Given the description of an element on the screen output the (x, y) to click on. 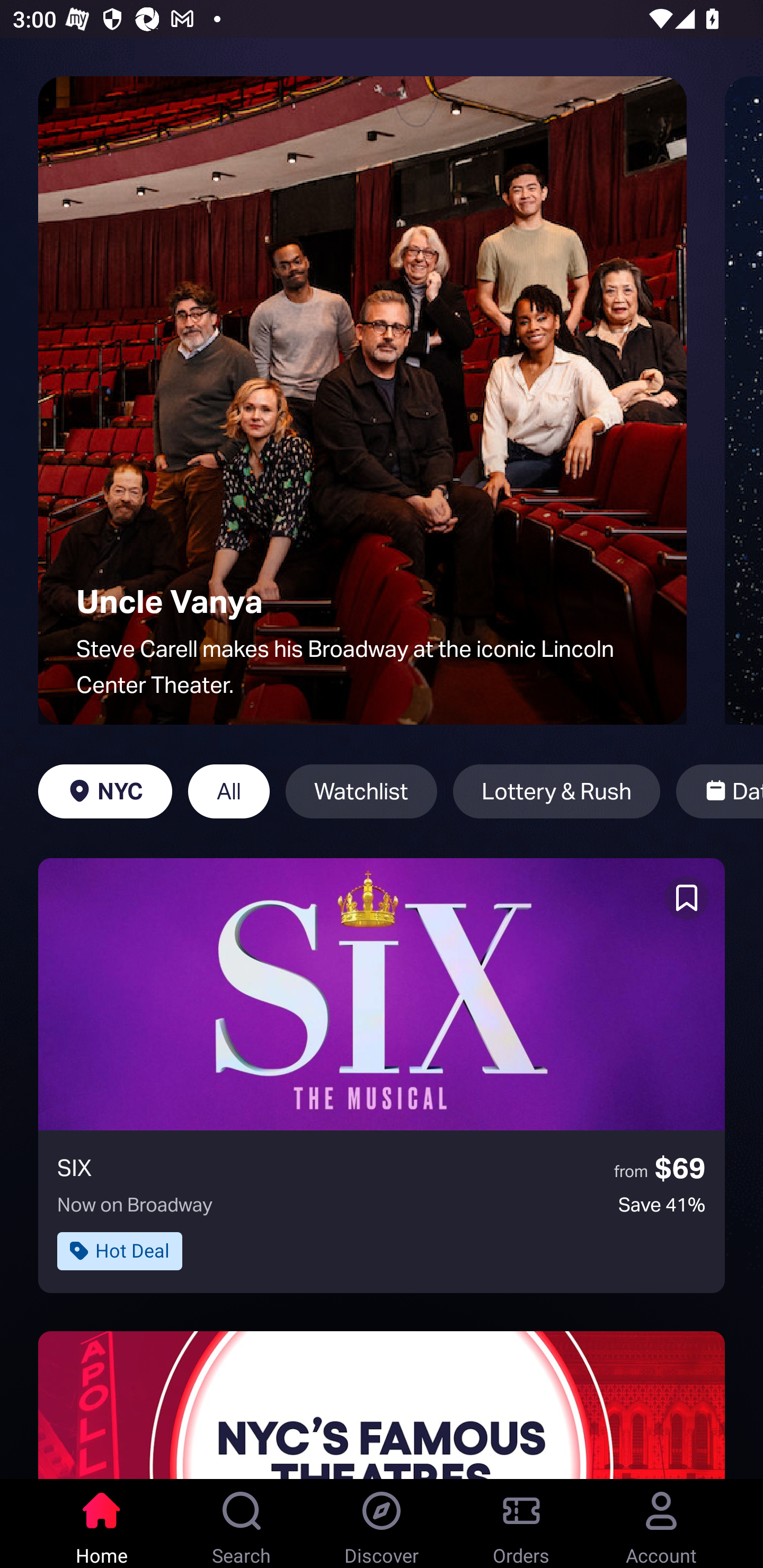
NYC (105, 791)
All (228, 791)
Watchlist (361, 791)
Lottery & Rush (556, 791)
Date (719, 791)
SIX from $69 Now on Broadway Save 41% Hot Deal (381, 1075)
Search (241, 1523)
Discover (381, 1523)
Orders (521, 1523)
Account (660, 1523)
